Given the description of an element on the screen output the (x, y) to click on. 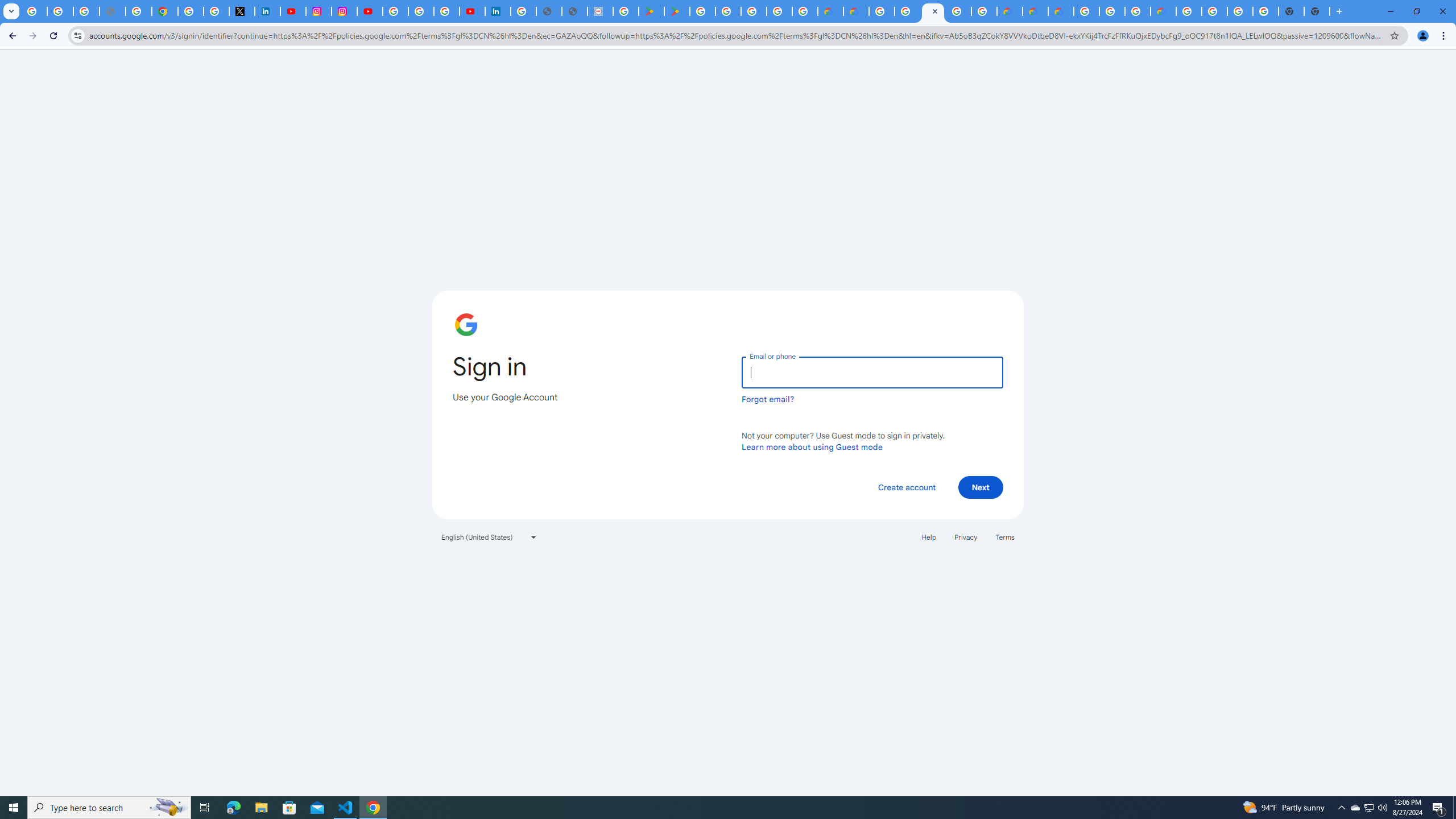
Sign in - Google Accounts (932, 11)
Privacy (965, 536)
New Tab (1316, 11)
Data Privacy Framework (600, 11)
Google Cloud Pricing Calculator (1034, 11)
Sign in - Google Accounts (523, 11)
Google Cloud Estimate Summary (1060, 11)
